Given the description of an element on the screen output the (x, y) to click on. 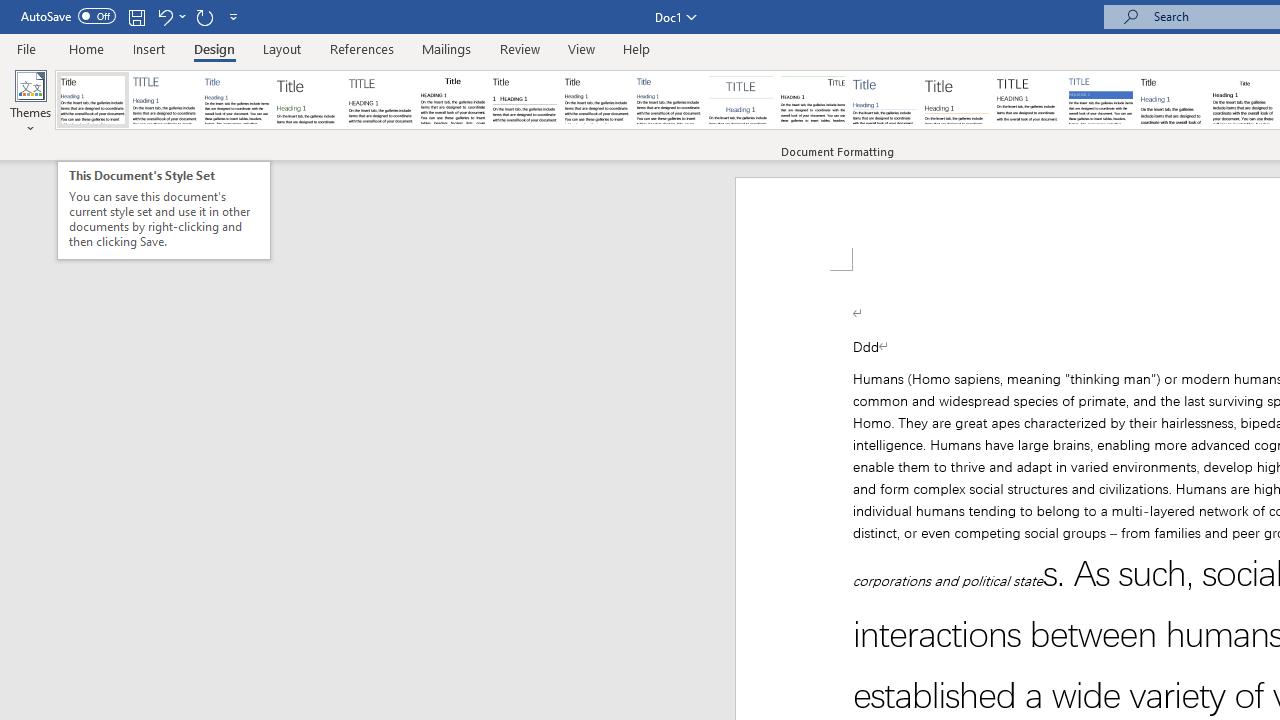
Black & White (Word 2013) (596, 100)
Basic (Elegant) (164, 100)
Minimalist (1028, 100)
Black & White (Classic) (452, 100)
Document (93, 100)
